Given the description of an element on the screen output the (x, y) to click on. 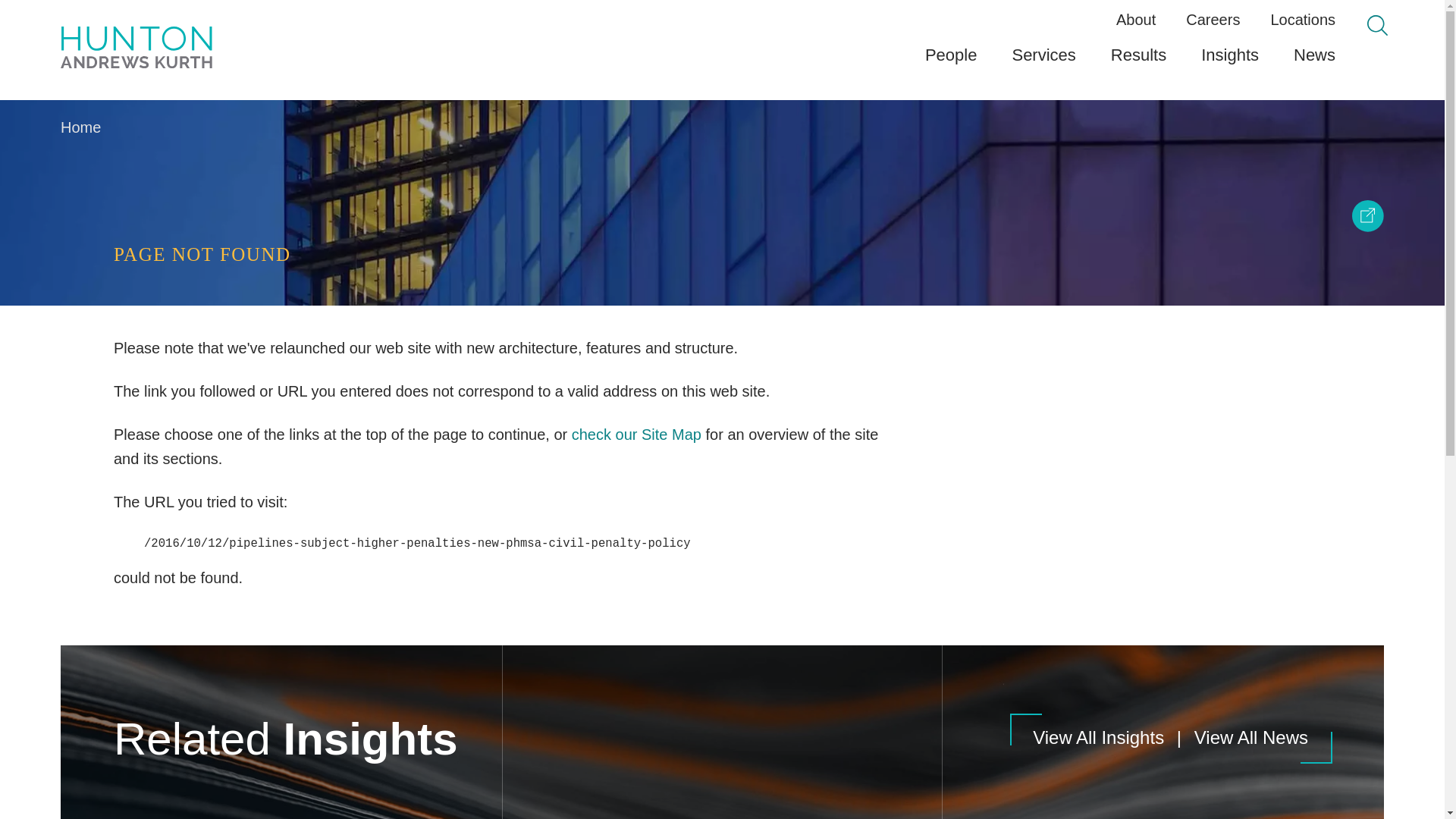
Menu (680, 17)
Results (1138, 60)
Search (1377, 25)
People (950, 60)
News (1314, 60)
Careers (1213, 19)
Insights (1229, 60)
Share (1368, 215)
Main Content (674, 17)
Services (1043, 60)
About (1136, 19)
Main Menu (680, 17)
